Given the description of an element on the screen output the (x, y) to click on. 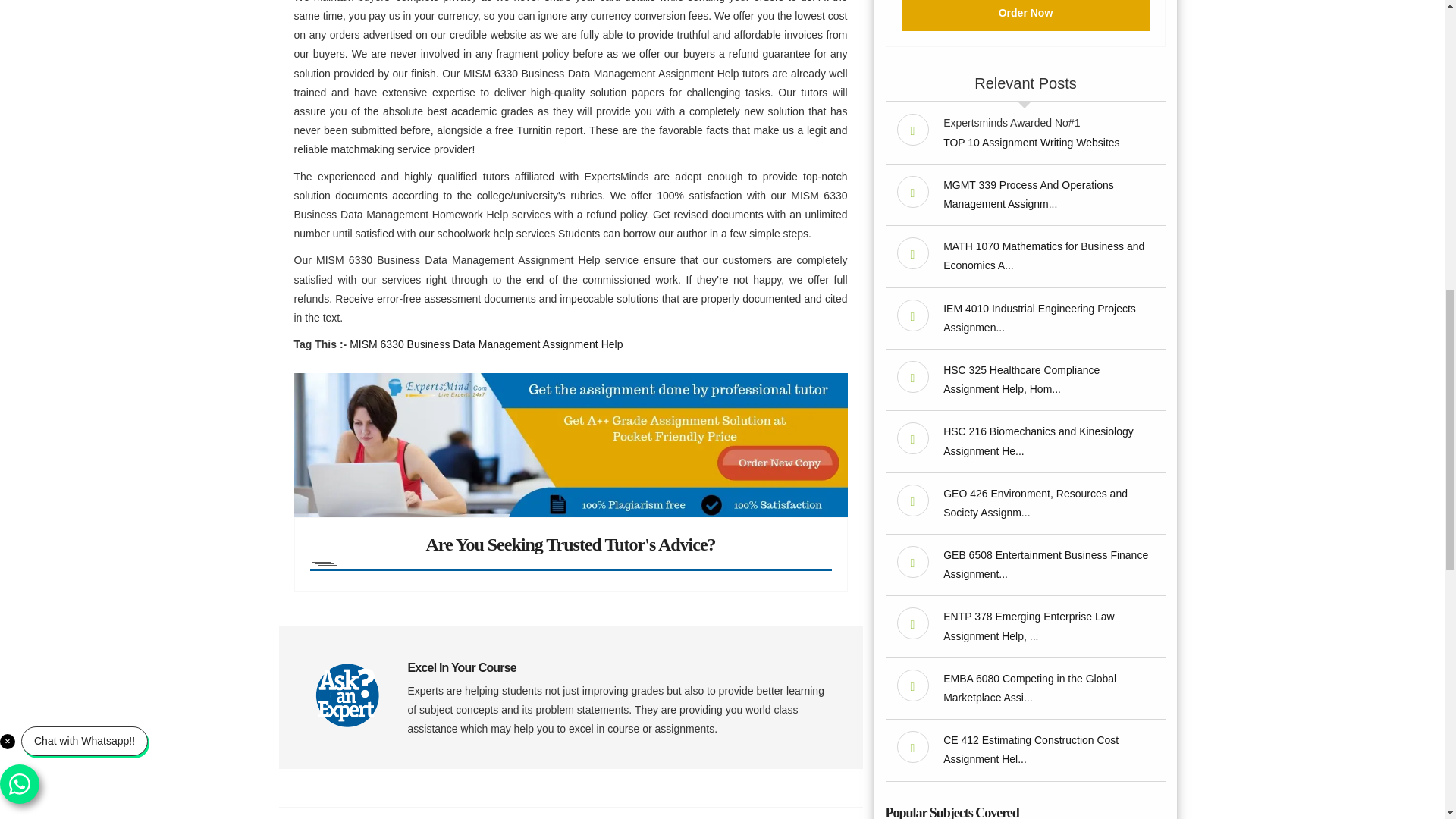
GEO 426 Environment, Resources and Society Assignm... (1034, 502)
IEM 4010 Industrial Engineering Projects Assignmen... (1039, 317)
EMBA 6080 Competing in the Global Marketplace Assi... (1029, 687)
MATH 1070 Mathematics for Business and Economics A... (1043, 255)
GEB 6508 Entertainment Business Finance Assignment... (1045, 563)
HSC 216 Biomechanics and Kinesiology Assignment He... (1038, 440)
MGMT 339 Process And Operations Management Assignm... (1028, 194)
ENTP 378 Emerging Enterprise Law Assignment Help, ... (1028, 625)
MISM 6330 Business Data Management Assignment Help (486, 344)
Order Now (1025, 15)
